Given the description of an element on the screen output the (x, y) to click on. 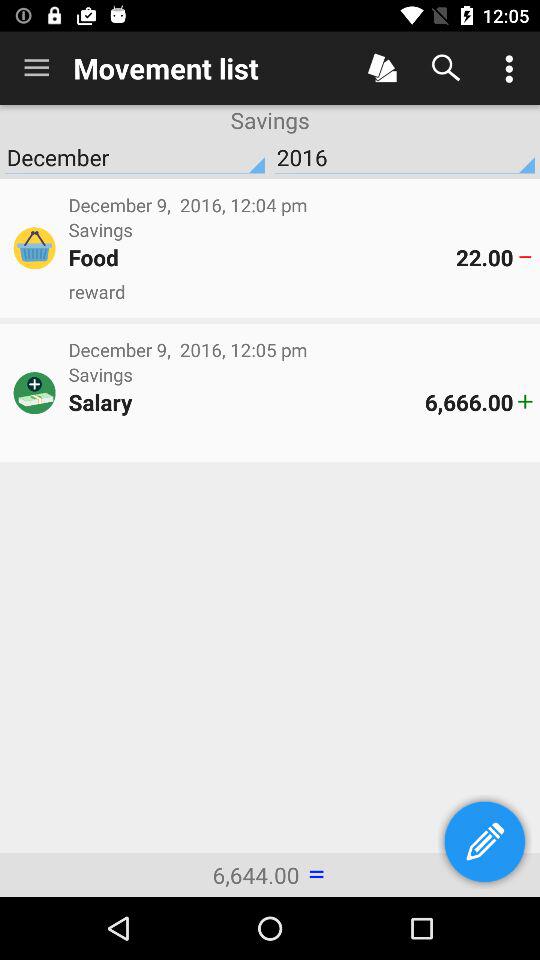
select item next to 6,666.00 item (246, 401)
